Given the description of an element on the screen output the (x, y) to click on. 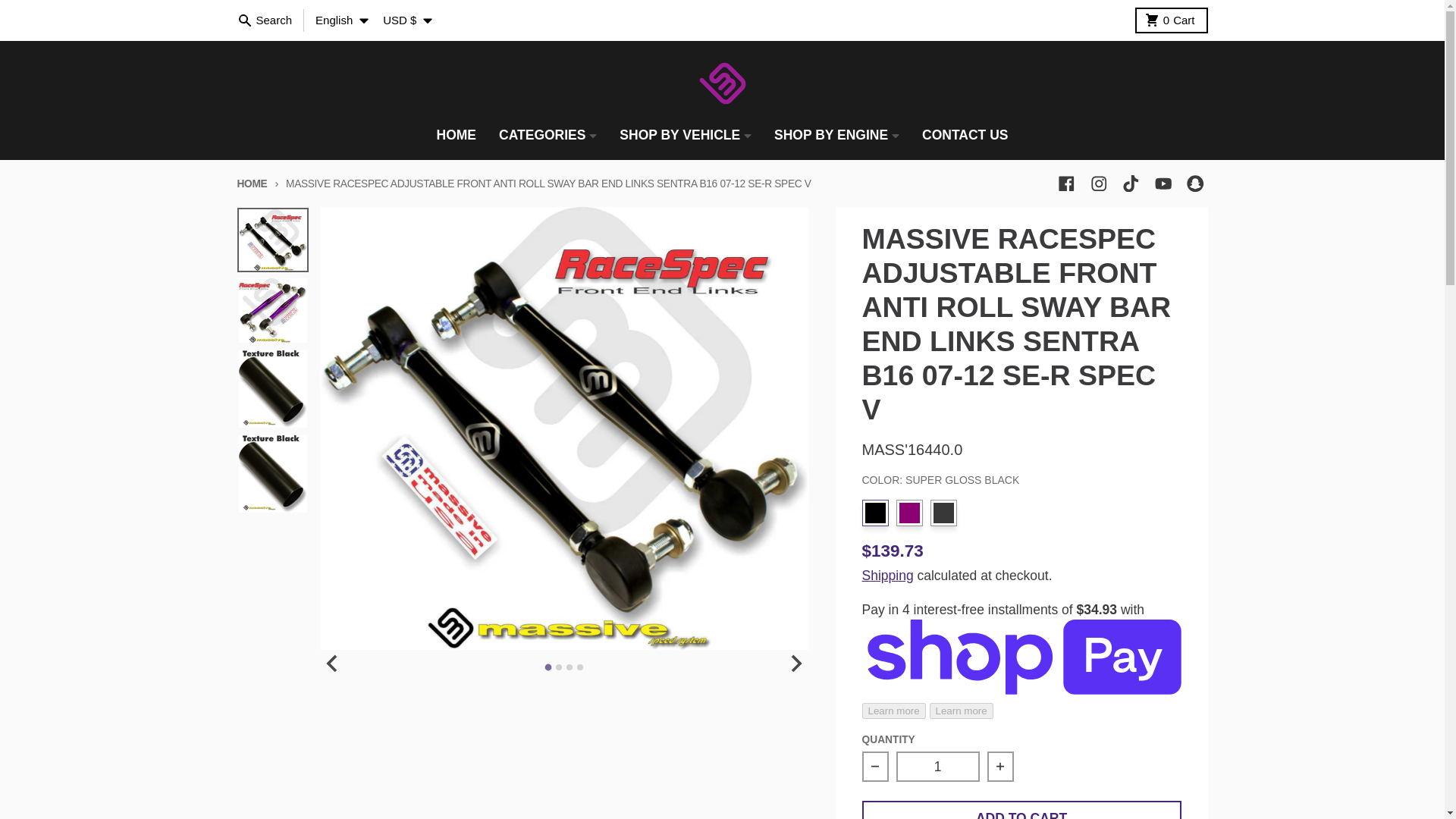
1 (937, 766)
Facebook - Massive Speed System (1066, 183)
Instagram - Massive Speed System (1098, 183)
YouTube - Massive Speed System (1163, 183)
TikTok - Massive Speed System (1130, 183)
English (341, 20)
Back to the homepage (250, 183)
Snapchat - Massive Speed System (1171, 20)
Search (1195, 183)
